Given the description of an element on the screen output the (x, y) to click on. 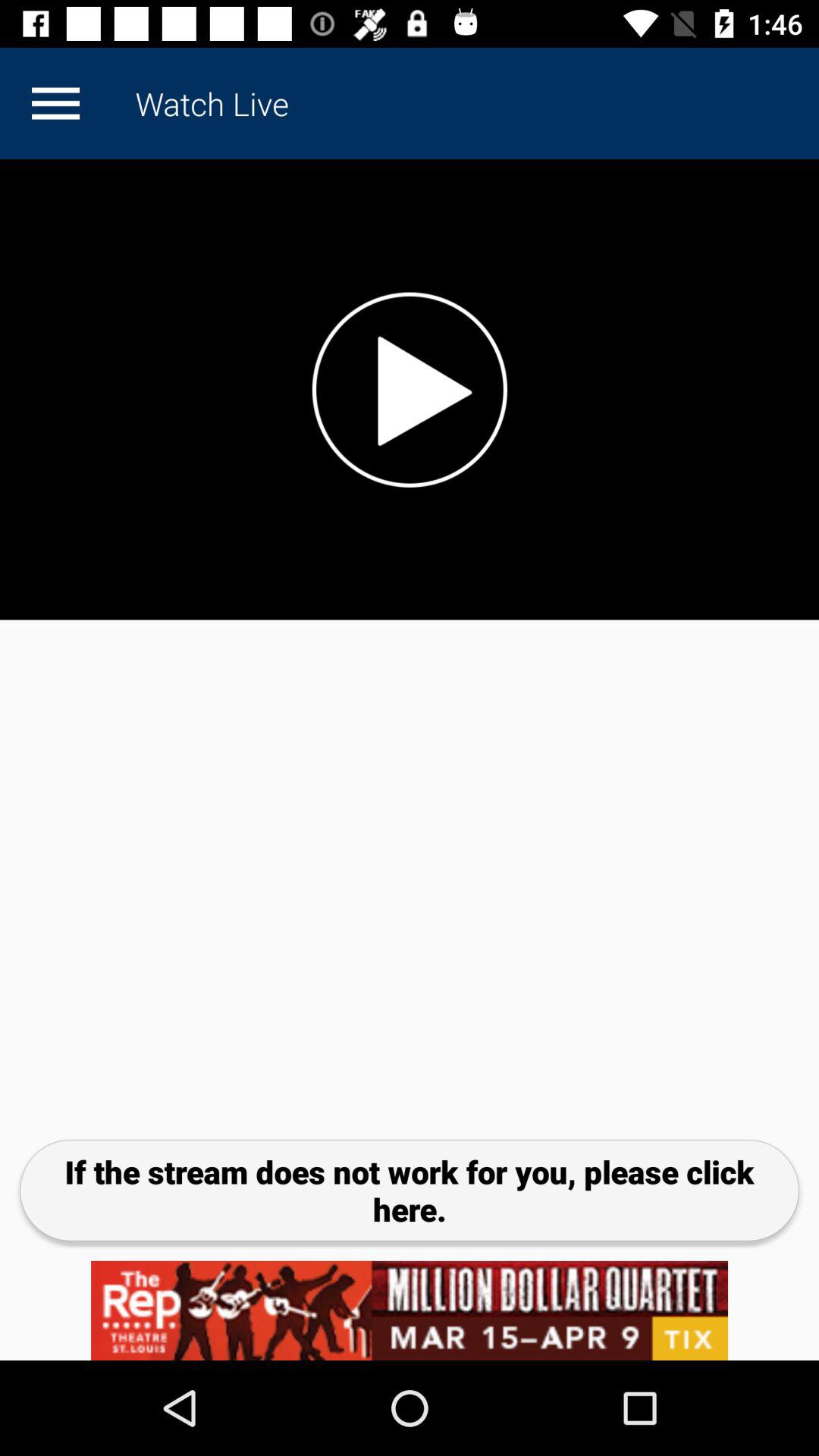
click on advertisement (409, 1310)
